Given the description of an element on the screen output the (x, y) to click on. 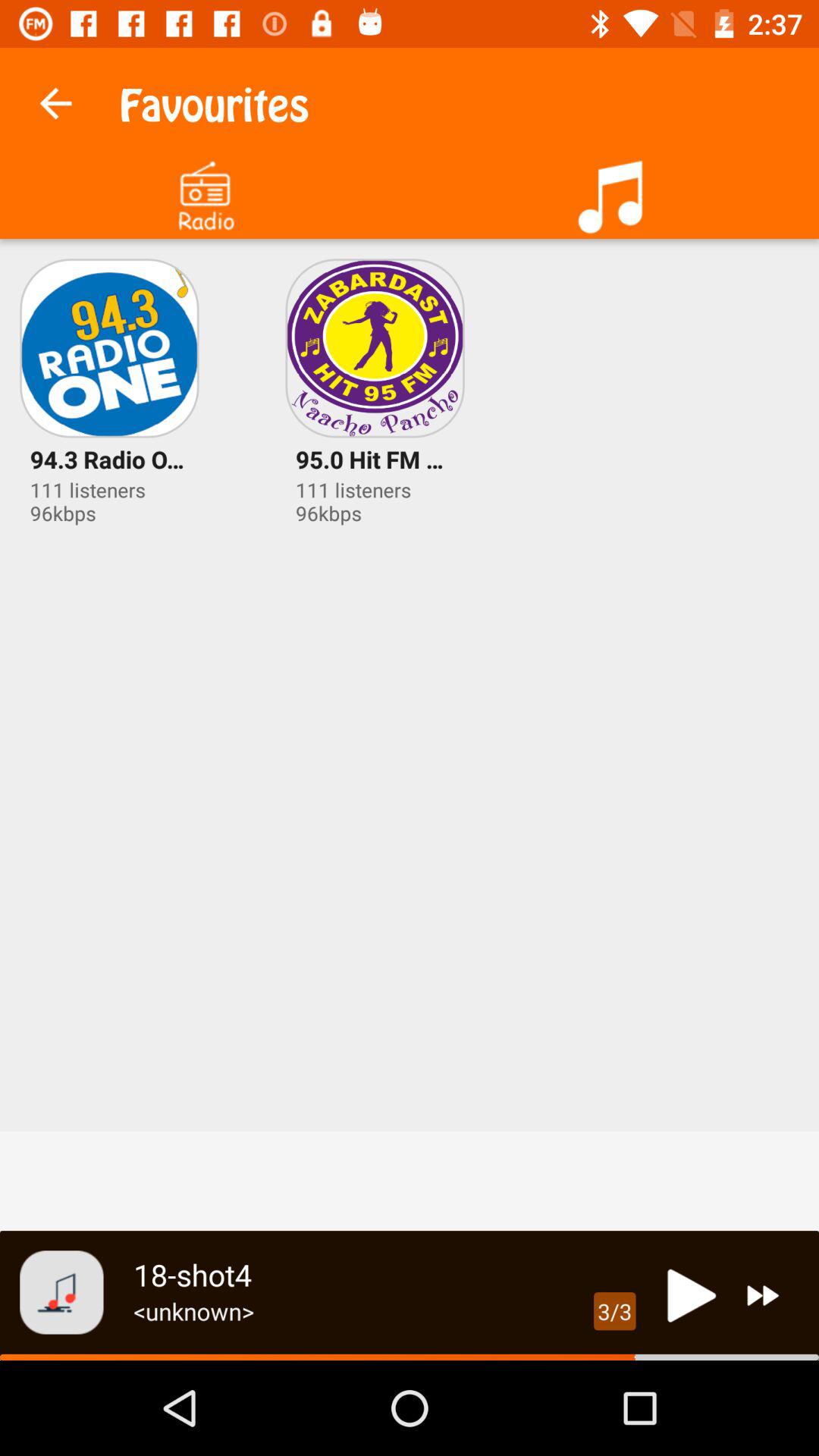
open radio (204, 190)
